Given the description of an element on the screen output the (x, y) to click on. 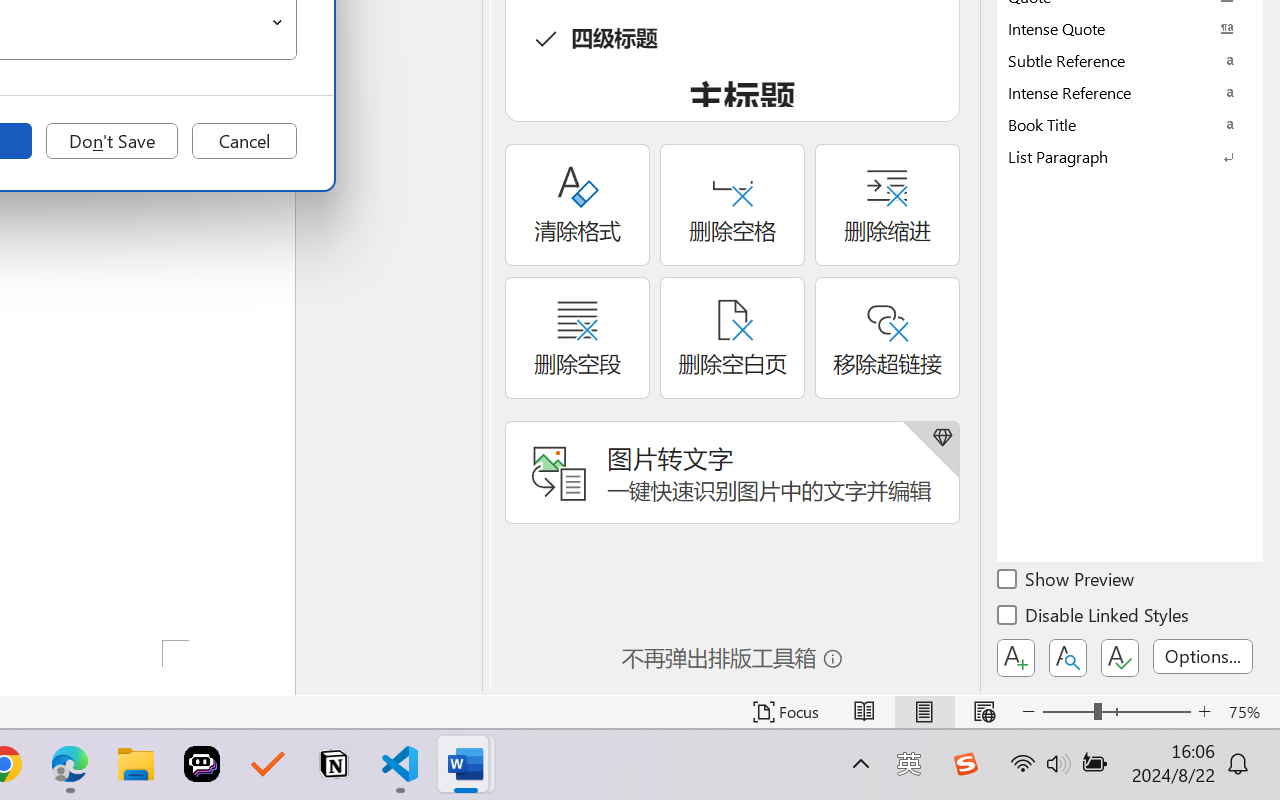
Poe (201, 764)
Intense Reference (1130, 92)
Cancel (244, 141)
Don't Save (111, 141)
Zoom In (1204, 712)
Notion (333, 764)
